Given the description of an element on the screen output the (x, y) to click on. 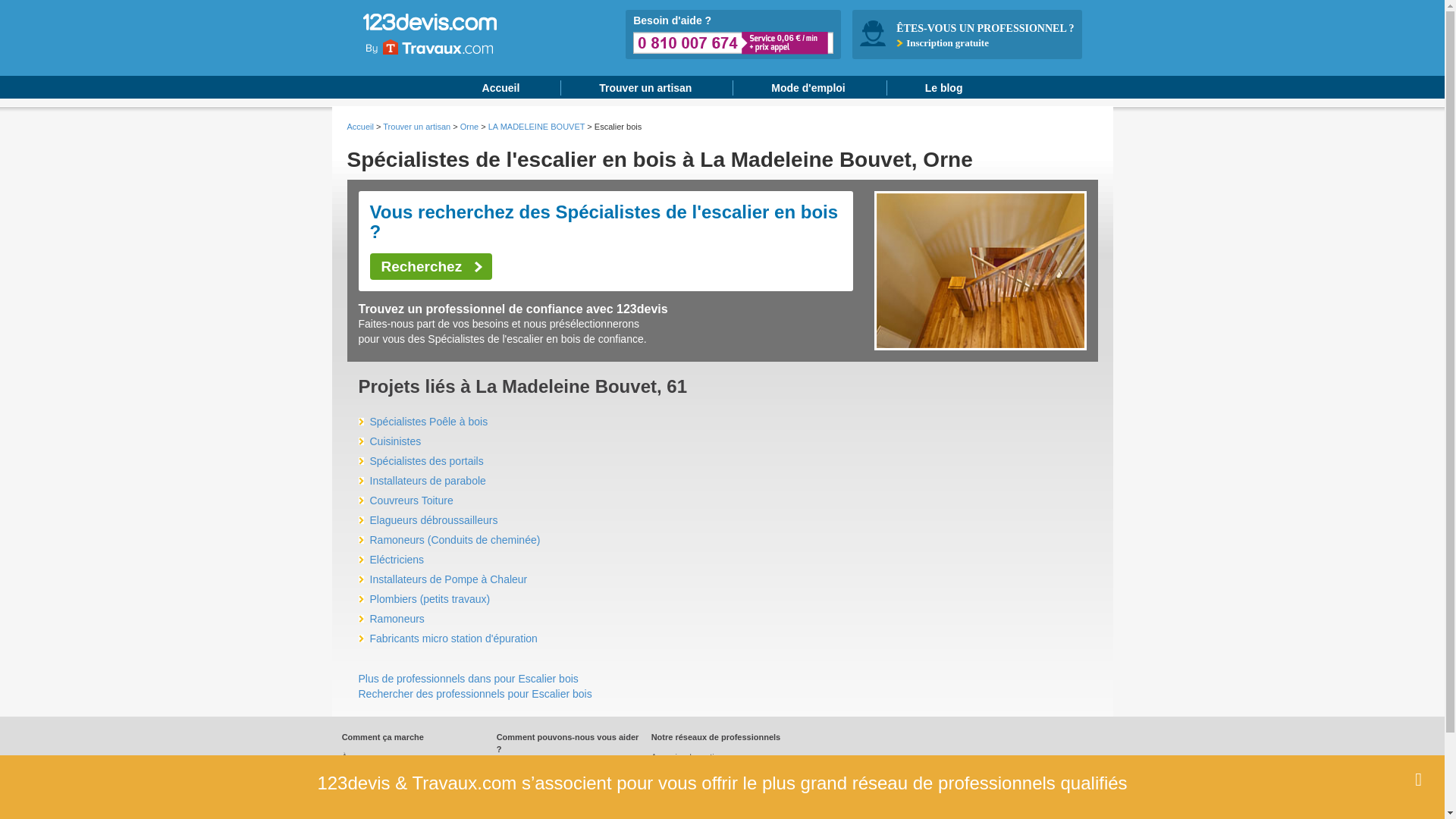
En savoir plus Element type: text (1014, 796)
LA MADELEINE BOUVET Element type: text (536, 126)
Le blog Element type: text (944, 87)
Trouver un artisan Element type: text (416, 126)
Installateurs de parabole Element type: text (421, 480)
Annuaire des artisans Element type: text (691, 756)
Plus de professionnels dans pour Escalier bois Element type: text (467, 678)
Contact Element type: text (356, 771)
Recherchez Element type: text (431, 266)
Ramoneurs Element type: text (390, 618)
Guide d'achat Element type: text (522, 783)
Cuisinistes Element type: text (388, 441)
Rechercher des professionnels pour Escalier bois Element type: text (474, 693)
Accueil Element type: text (501, 87)
Inscription gratuite Element type: text (947, 42)
Utilisation des cookies Element type: text (383, 803)
Le blog Element type: text (510, 799)
Couvreurs Toiture Element type: text (404, 500)
Devis gratuits pour vos travaux Element type: hover (452, 33)
Orne Element type: text (469, 126)
OK Element type: text (1126, 796)
Conditions d'utilisation Element type: text (692, 771)
Accueil Element type: text (360, 126)
Trouver un artisan Element type: text (645, 87)
Plombiers (petits travaux) Element type: text (423, 598)
Mode d'emploi Element type: text (368, 787)
Mode d'emploi Element type: text (807, 87)
